Given the description of an element on the screen output the (x, y) to click on. 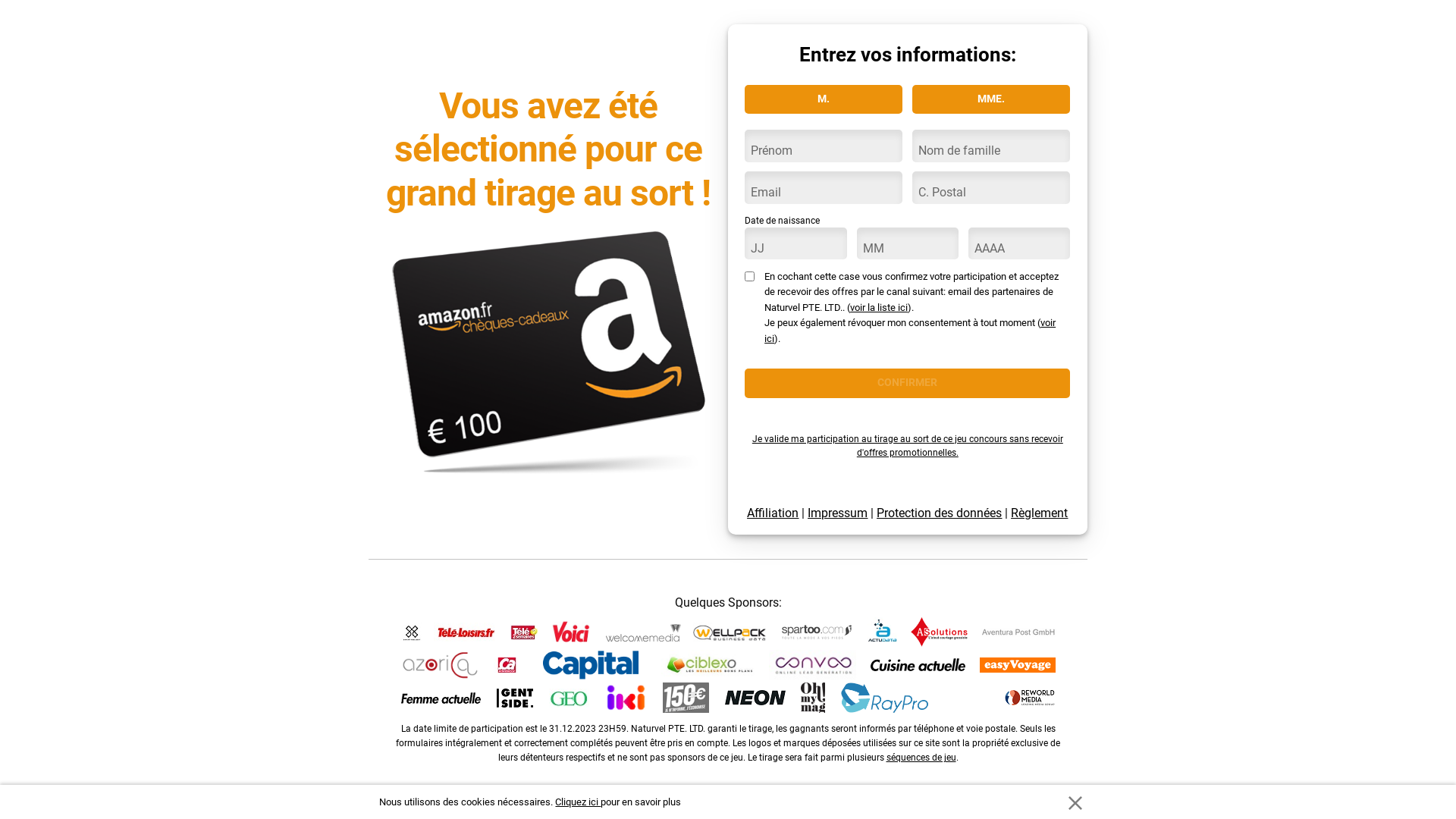
Affiliation Element type: text (772, 512)
voir ici Element type: text (909, 329)
Impressum Element type: text (837, 512)
Cliquez ici Element type: text (577, 801)
voir la liste ici Element type: text (878, 307)
